Given the description of an element on the screen output the (x, y) to click on. 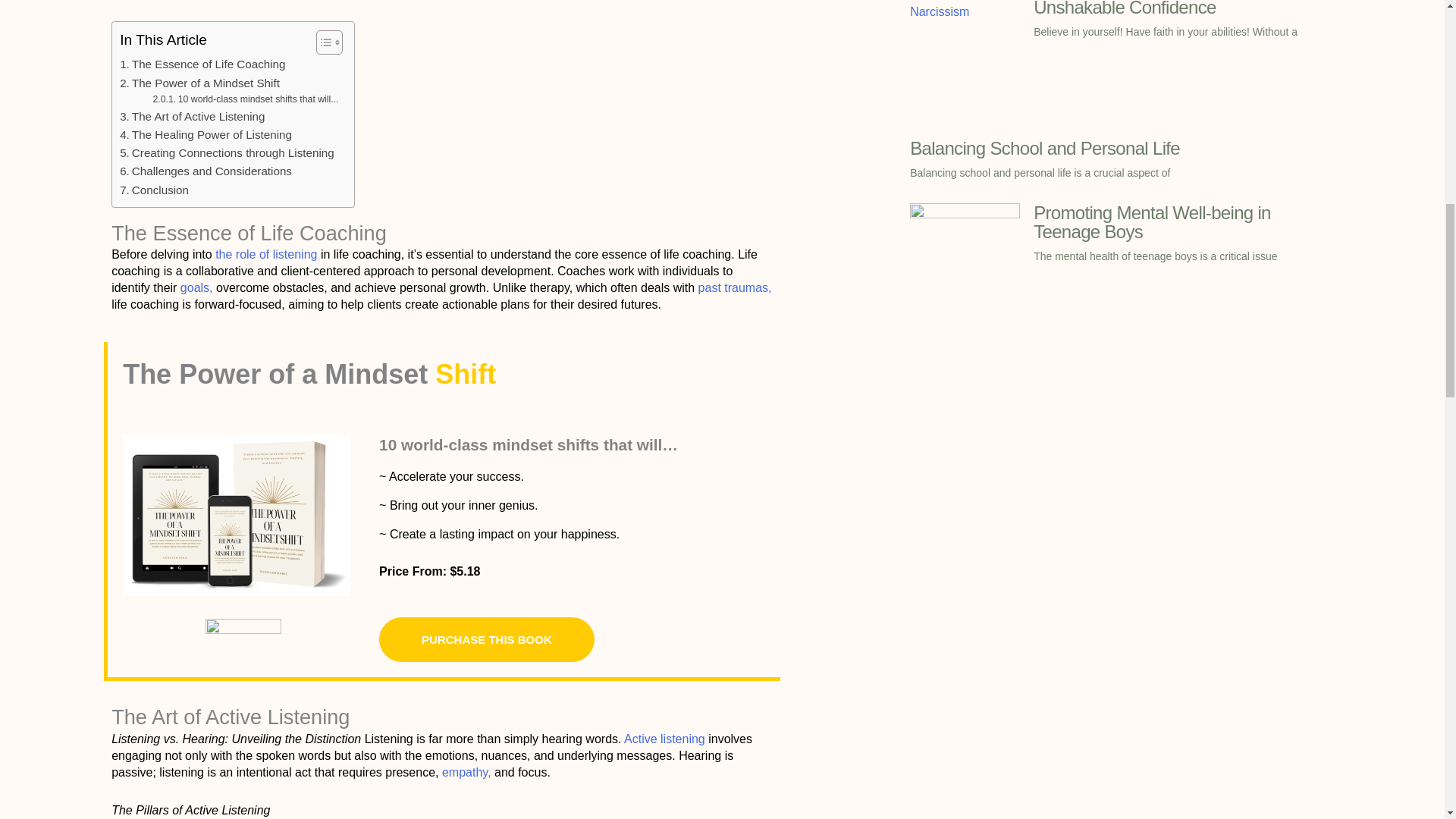
10 world-class mindset shifts that will... (244, 99)
The Essence of Life Coaching (202, 64)
Conclusion (154, 189)
10 world-class mindset shifts that will... (244, 99)
Creating Connections through Listening (226, 153)
Challenges and Considerations (205, 171)
The Power of a Mindset Shift (199, 83)
The Art of Active Listening (191, 116)
The Healing Power of Listening (205, 135)
The Power of a Mindset Shift (199, 83)
The Essence of Life Coaching (202, 64)
The Healing Power of Listening (205, 135)
Creating Connections through Listening (226, 153)
The Art of Active Listening (191, 116)
